Given the description of an element on the screen output the (x, y) to click on. 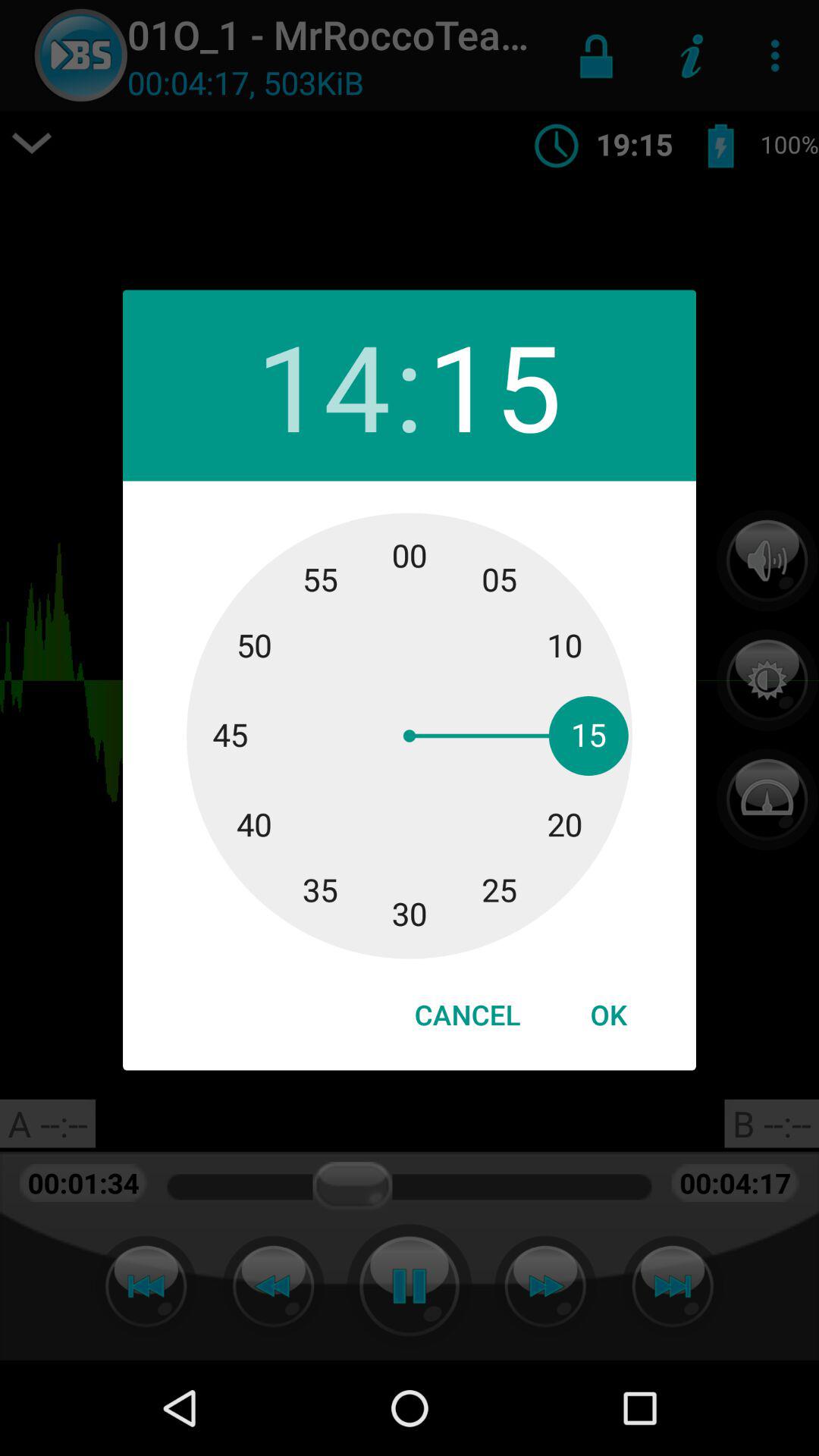
choose item next to the : item (323, 384)
